Given the description of an element on the screen output the (x, y) to click on. 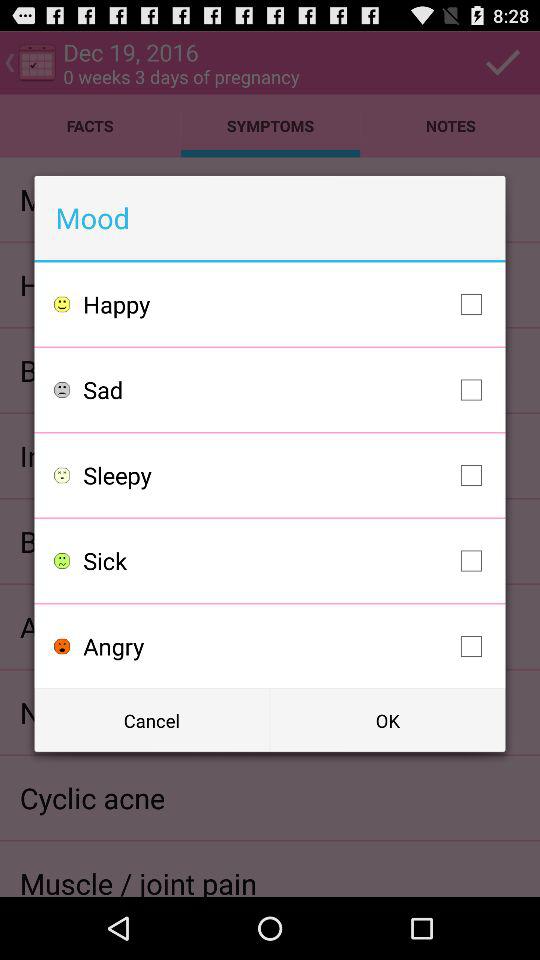
press item above sick icon (287, 475)
